Given the description of an element on the screen output the (x, y) to click on. 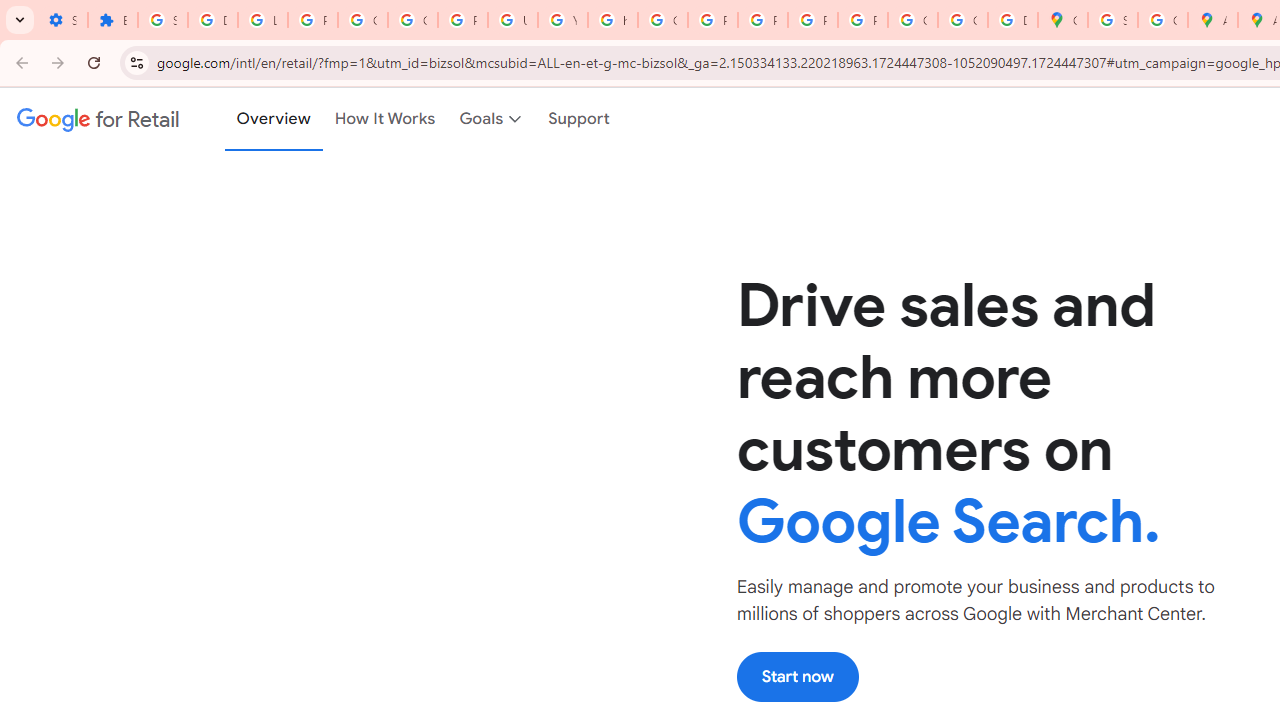
Privacy Help Center - Policies Help (712, 20)
Create your Google Account (1162, 20)
Goals (491, 119)
How It Works (385, 119)
Start now (797, 676)
Sign in - Google Accounts (163, 20)
Goals (491, 119)
